Given the description of an element on the screen output the (x, y) to click on. 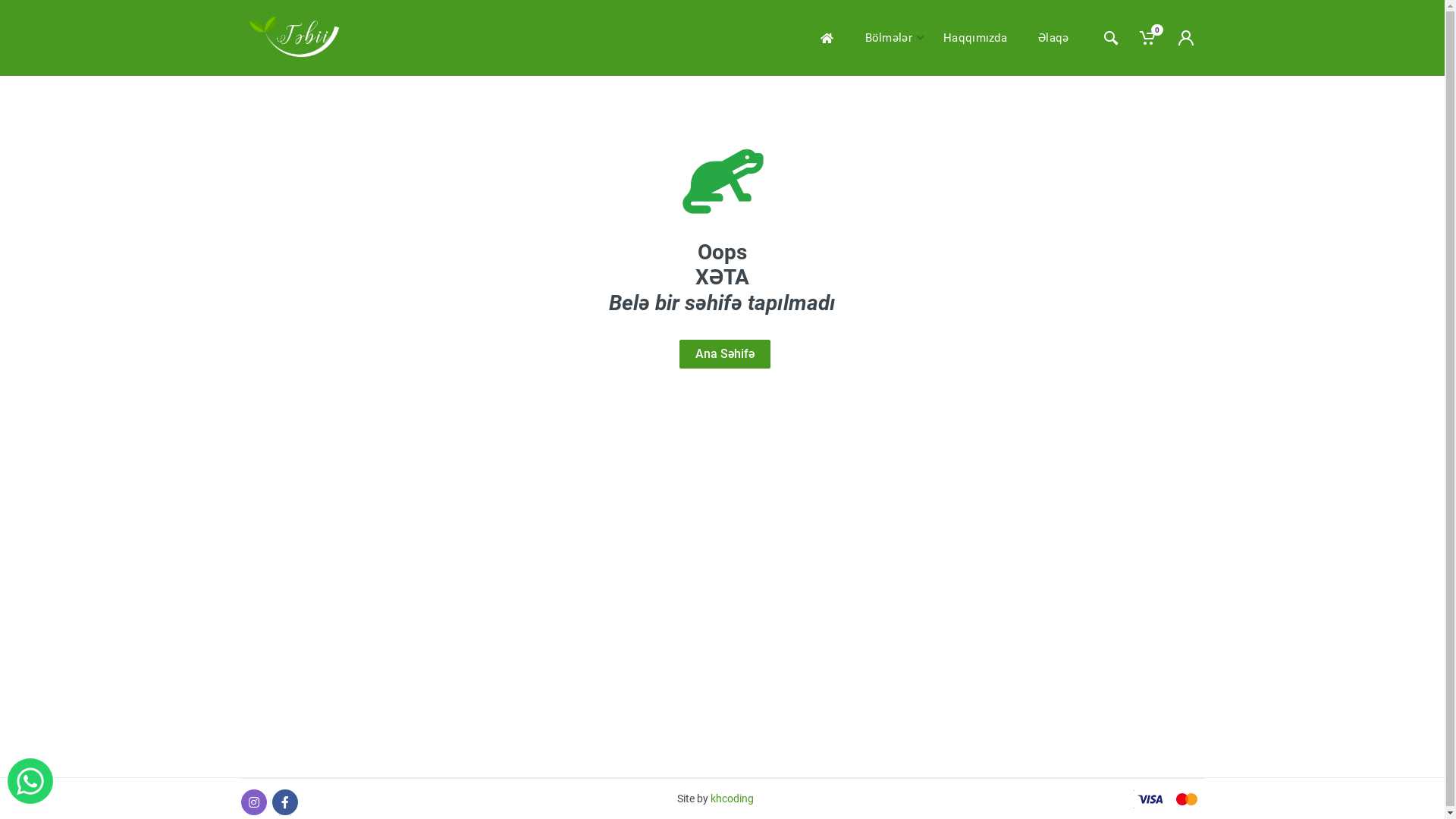
khcoding Element type: text (731, 798)
0 Element type: text (1147, 37)
